Given the description of an element on the screen output the (x, y) to click on. 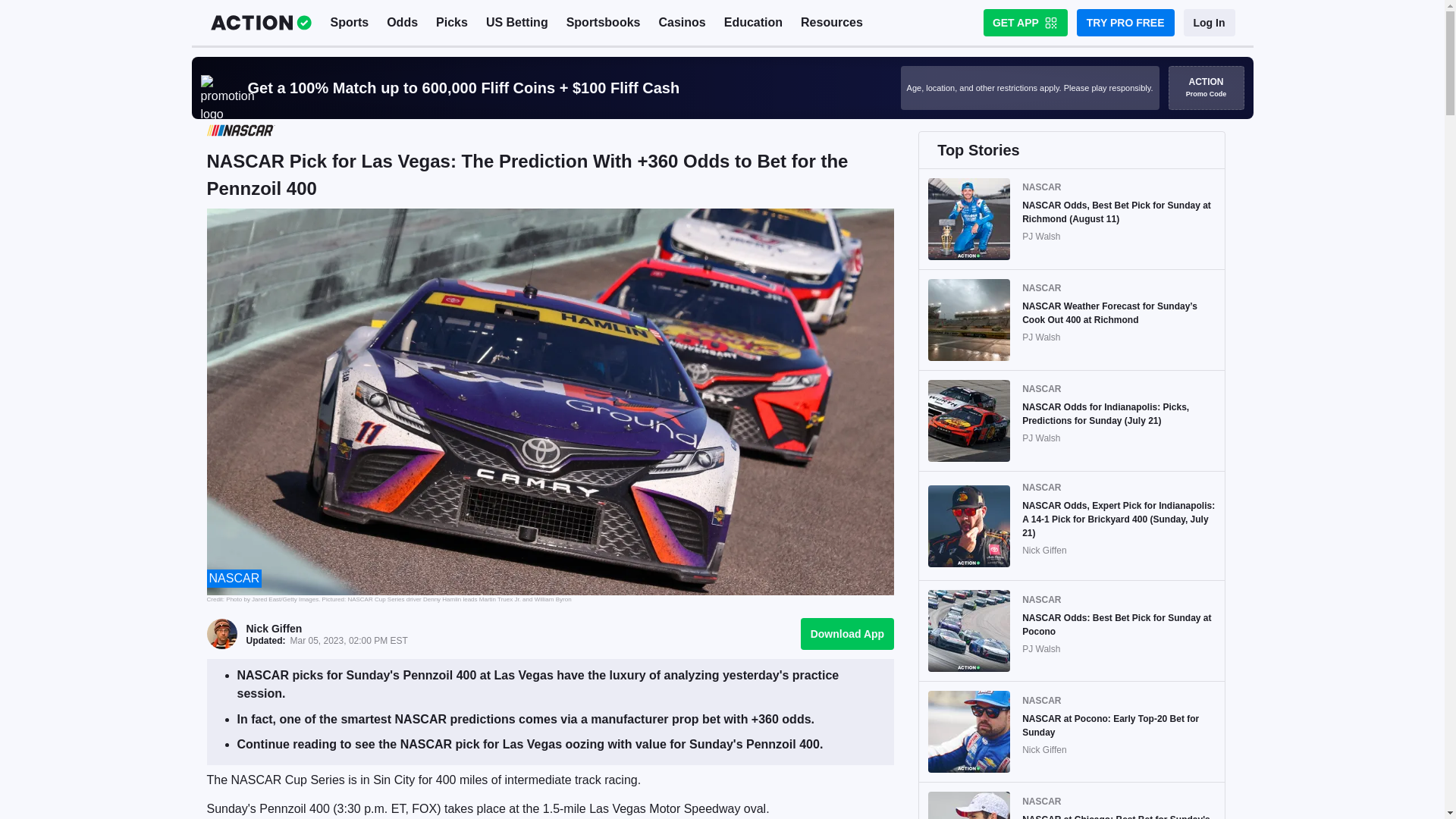
US Betting (517, 23)
NASCAR at Pocono: Early Top-20 Bet for Sunday (1118, 725)
Download App (846, 633)
Sportsbooks (603, 23)
NASCAR (234, 577)
Picks (451, 23)
NASCAR Odds: Best Bet Pick for Sunday at Pocono (1118, 624)
NASCAR at Chicago: Best Bet for Sunday's Grant Park 165 (1118, 816)
TRY PRO FREE (1125, 22)
Education (753, 23)
